Given the description of an element on the screen output the (x, y) to click on. 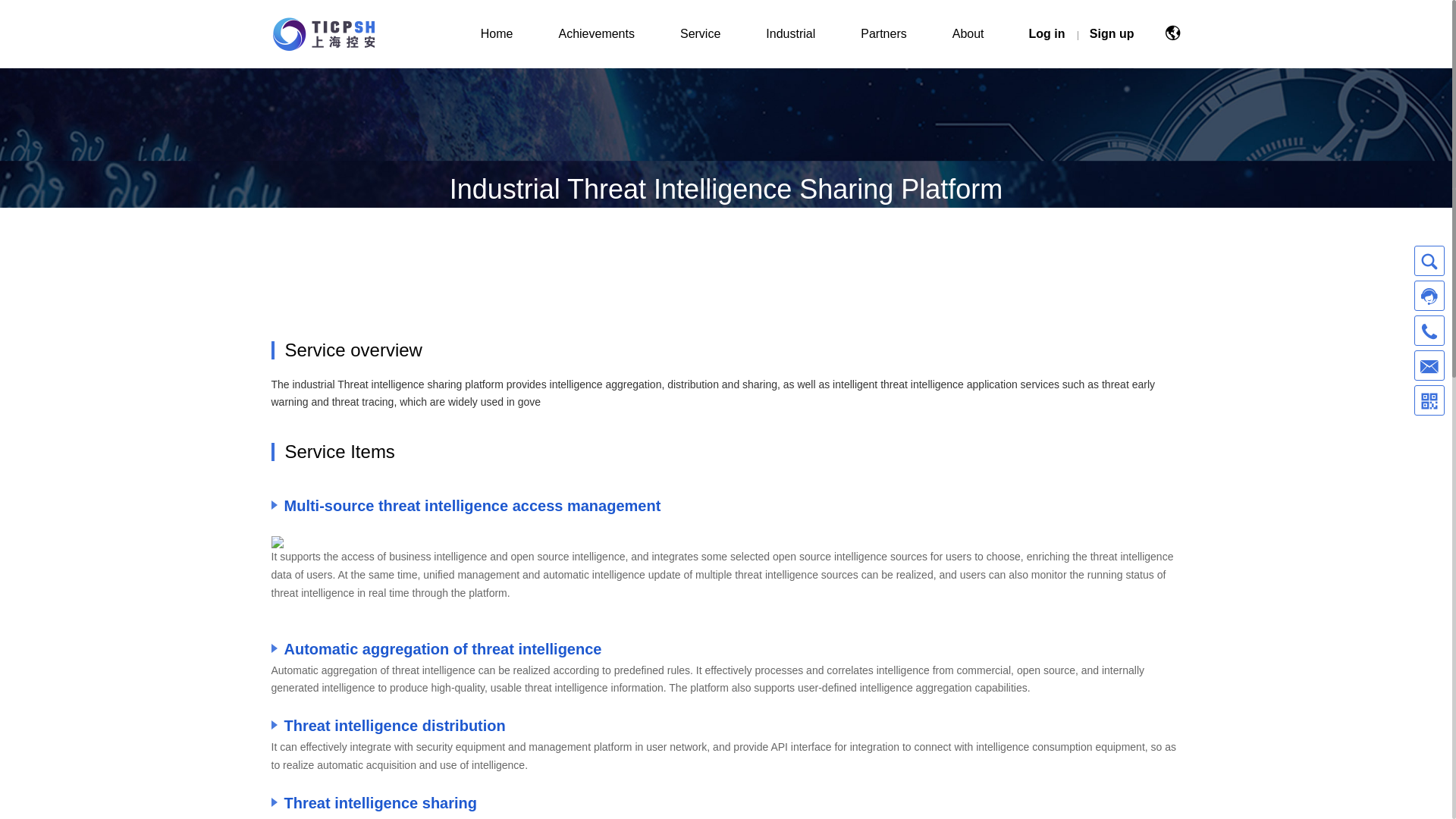
Service (700, 33)
Achievements (596, 33)
Home (496, 33)
